Given the description of an element on the screen output the (x, y) to click on. 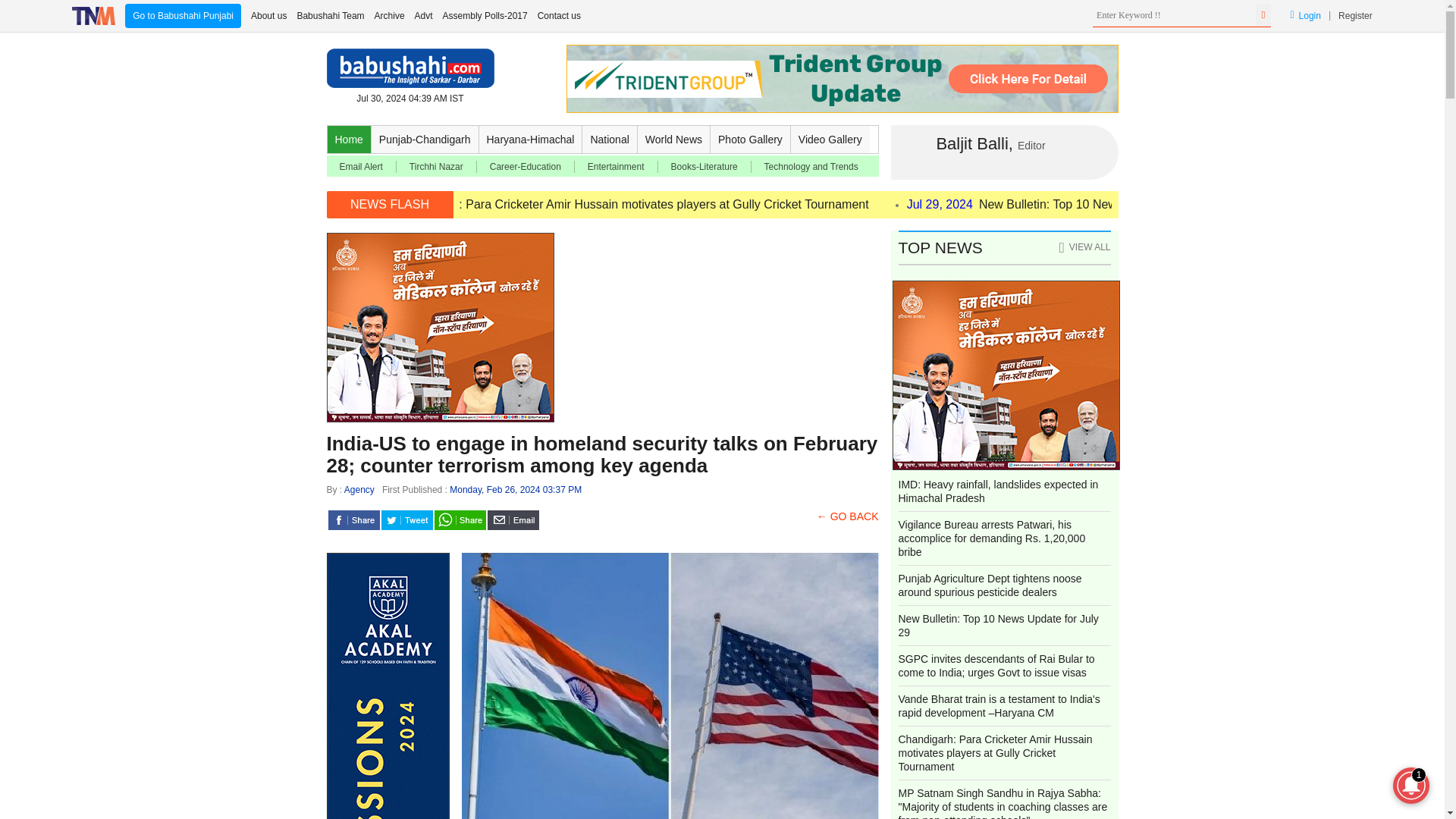
National (609, 139)
Register (1355, 15)
Jul 29, 2024New Bulletin: Top 10 News Update for July 29 (1066, 204)
About us (268, 15)
Photo Gallery (750, 139)
Haryana-Himachal (530, 139)
Entertainment (616, 166)
Email Alert (361, 166)
Assembly Polls-2017 (484, 15)
Archive (389, 15)
Technology and Trends (810, 166)
Go to Babushahi Punjabi (183, 15)
Books-Literature (704, 166)
Contact us (558, 15)
Login (1305, 15)
